Given the description of an element on the screen output the (x, y) to click on. 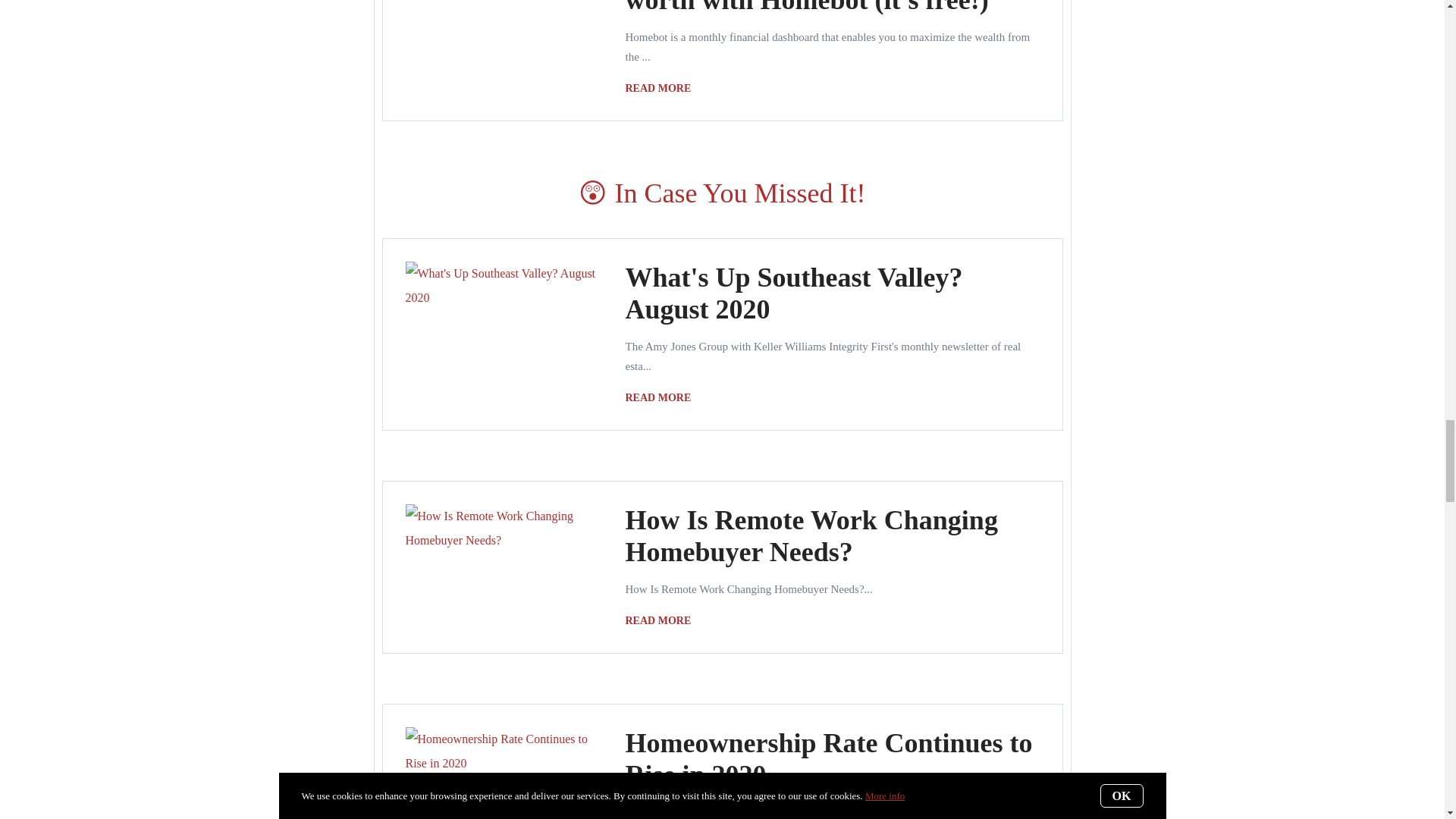
What's Up Southeast Valley? August 2020 (661, 398)
READ MORE (661, 88)
READ MORE (661, 620)
Homeownership Rate Continues to Rise in 2020 (828, 759)
What's Up Southeast Valley? August 2020 (793, 293)
How Is Remote Work Changing Homebuyer Needs? (661, 620)
How Is Remote Work Changing Homebuyer Needs? (810, 536)
What's Up Southeast Valley? August 2020 (793, 293)
How Is Remote Work Changing Homebuyer Needs? (810, 536)
Homeownership Rate Continues to Rise in 2020 (828, 759)
